Given the description of an element on the screen output the (x, y) to click on. 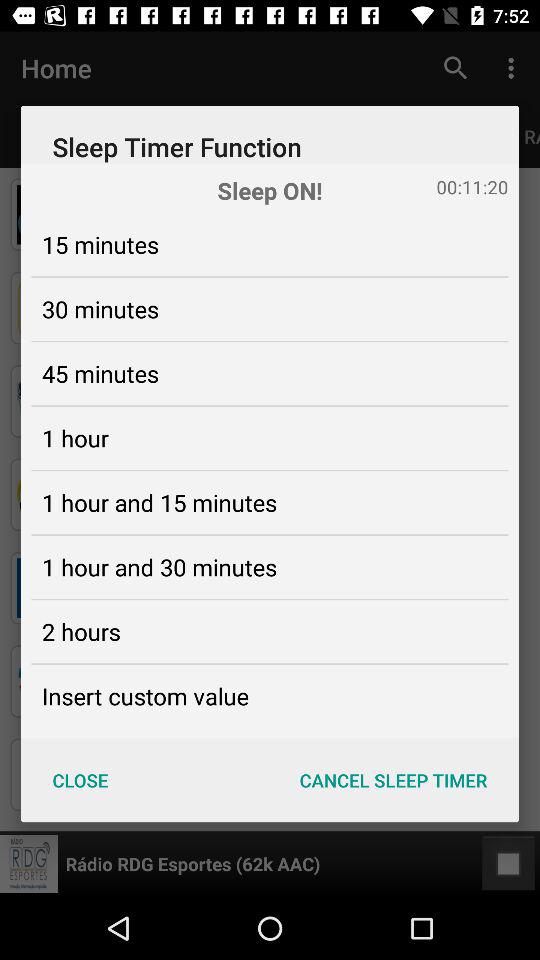
turn off icon above close (145, 696)
